Given the description of an element on the screen output the (x, y) to click on. 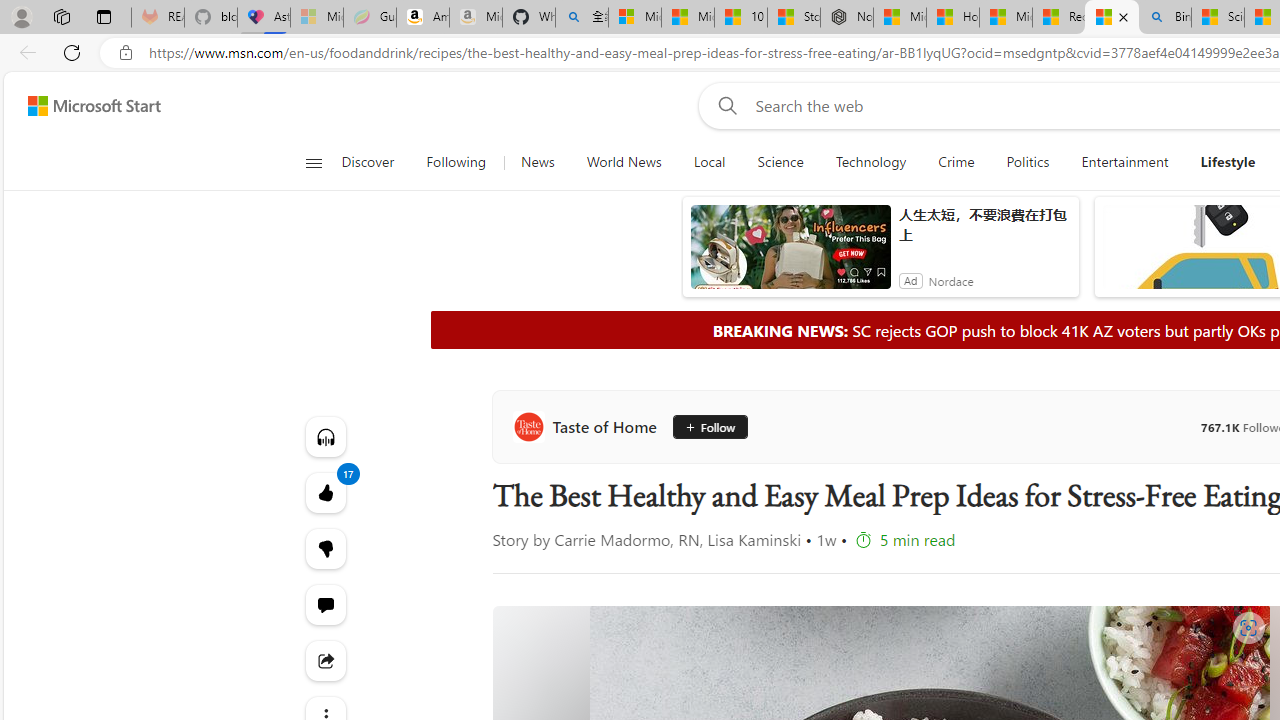
Class: at-item (324, 660)
Politics (1027, 162)
Asthma Inhalers: Names and Types (264, 17)
Science (779, 162)
Crime (956, 162)
Follow (709, 426)
Politics (1027, 162)
Lifestyle (1228, 162)
